Given the description of an element on the screen output the (x, y) to click on. 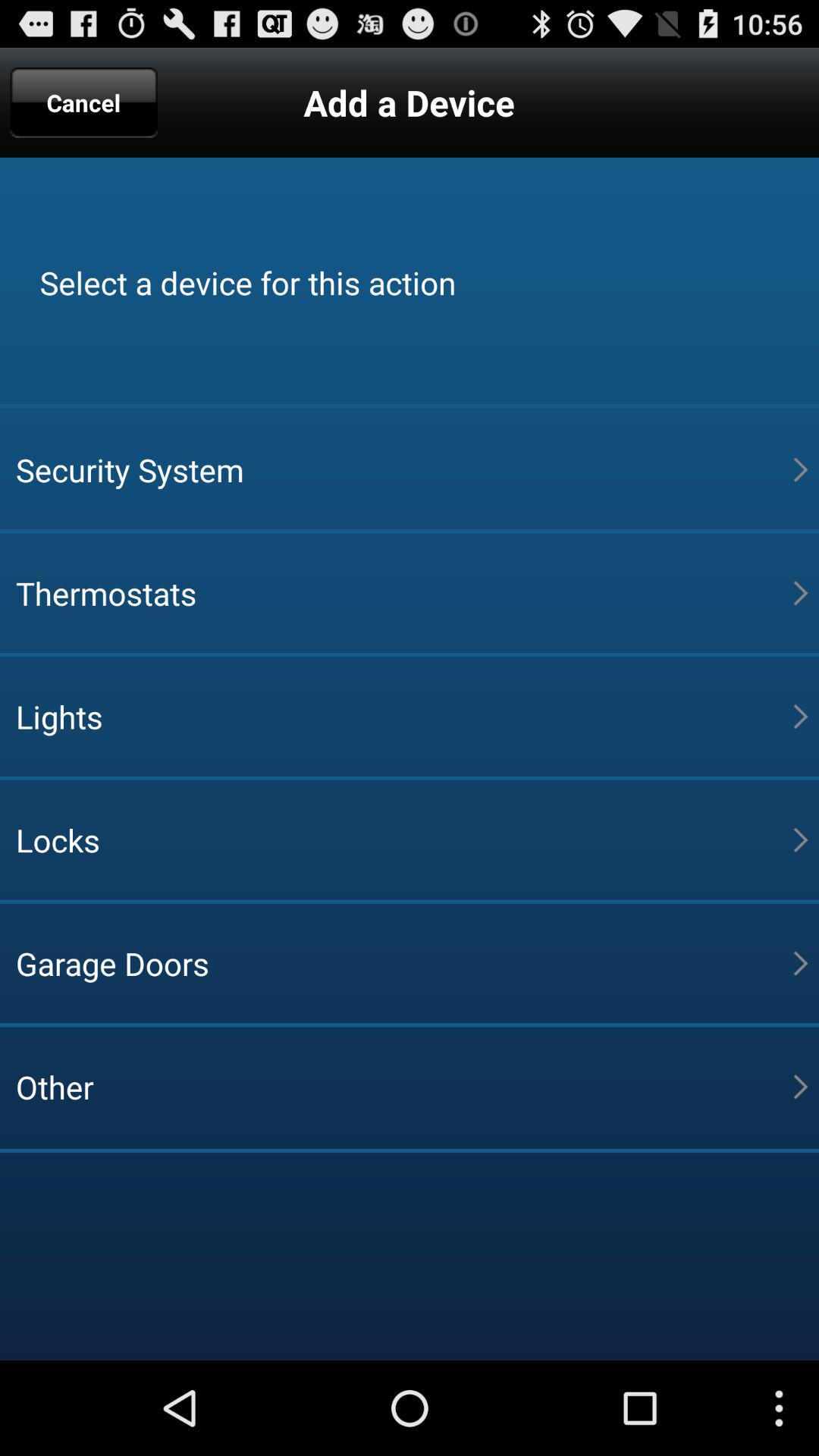
open the cancel (83, 102)
